Given the description of an element on the screen output the (x, y) to click on. 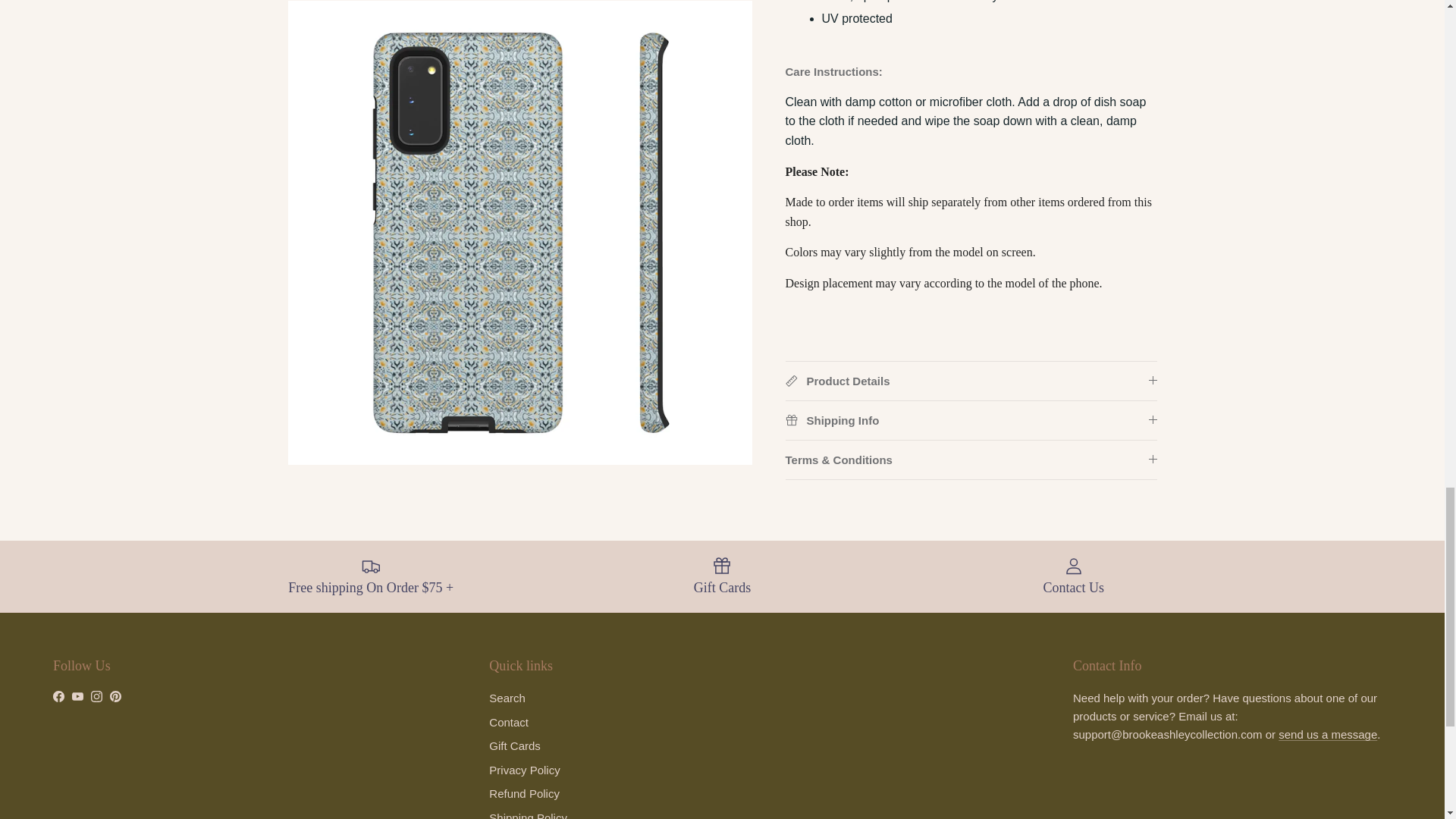
Brooke Ashley Collection  on Facebook (58, 696)
Brooke Ashley Collection  on YouTube (76, 696)
Brooke Ashley Collection  on Instagram (95, 696)
Brooke Ashley Collection  on Pinterest (115, 696)
Contact Us (1327, 734)
